Given the description of an element on the screen output the (x, y) to click on. 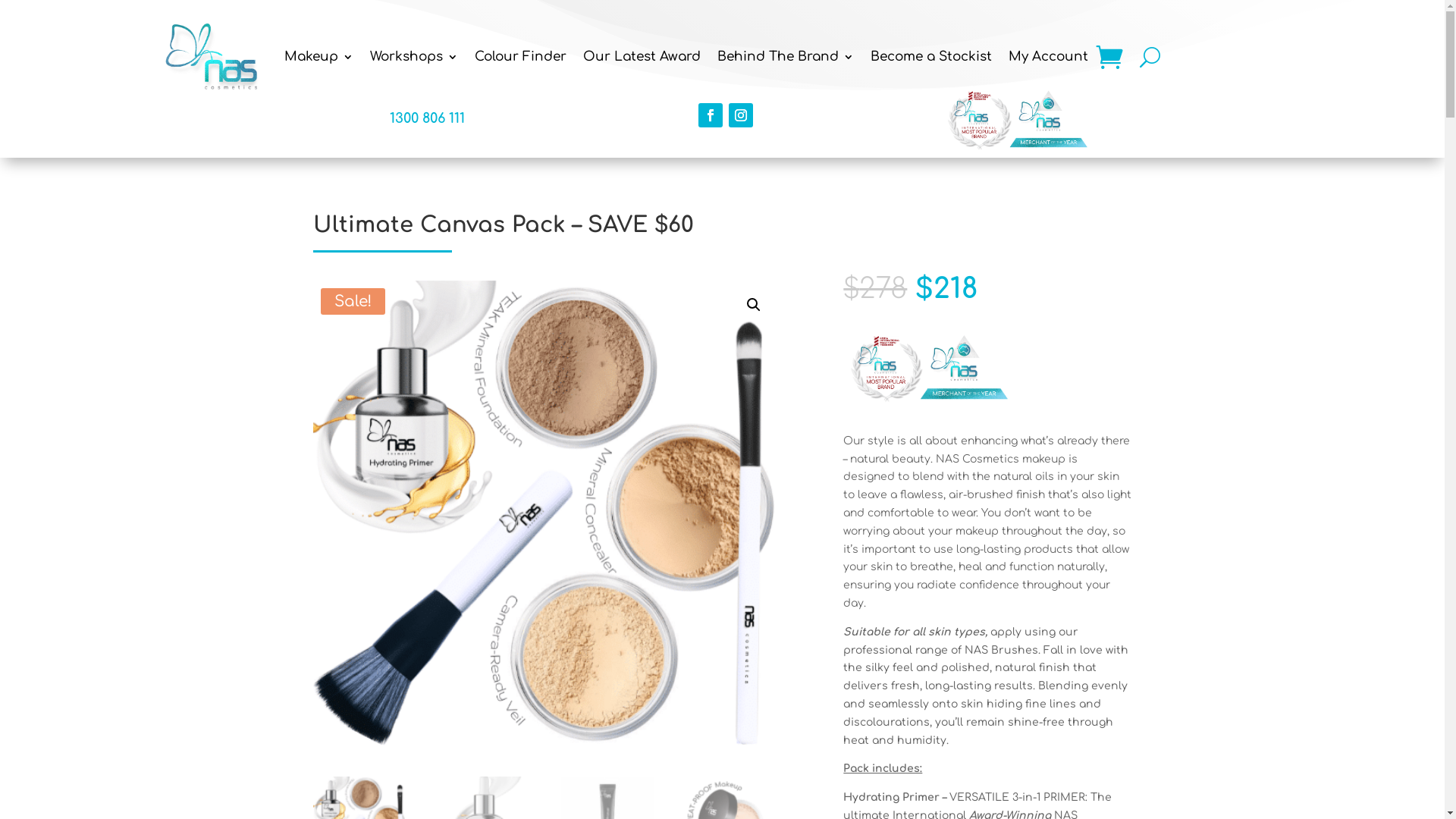
Our Latest Award Element type: text (641, 57)
Behind The Brand Element type: text (785, 57)
Follow on Facebook Element type: hover (710, 115)
My Account Element type: text (1048, 57)
Become a Stockist Element type: text (930, 57)
Workshops Element type: text (414, 57)
Follow on Instagram Element type: hover (740, 115)
Colour Finder Element type: text (520, 57)
Makeup Element type: text (318, 57)
1300 806 111 Element type: text (426, 117)
